Given the description of an element on the screen output the (x, y) to click on. 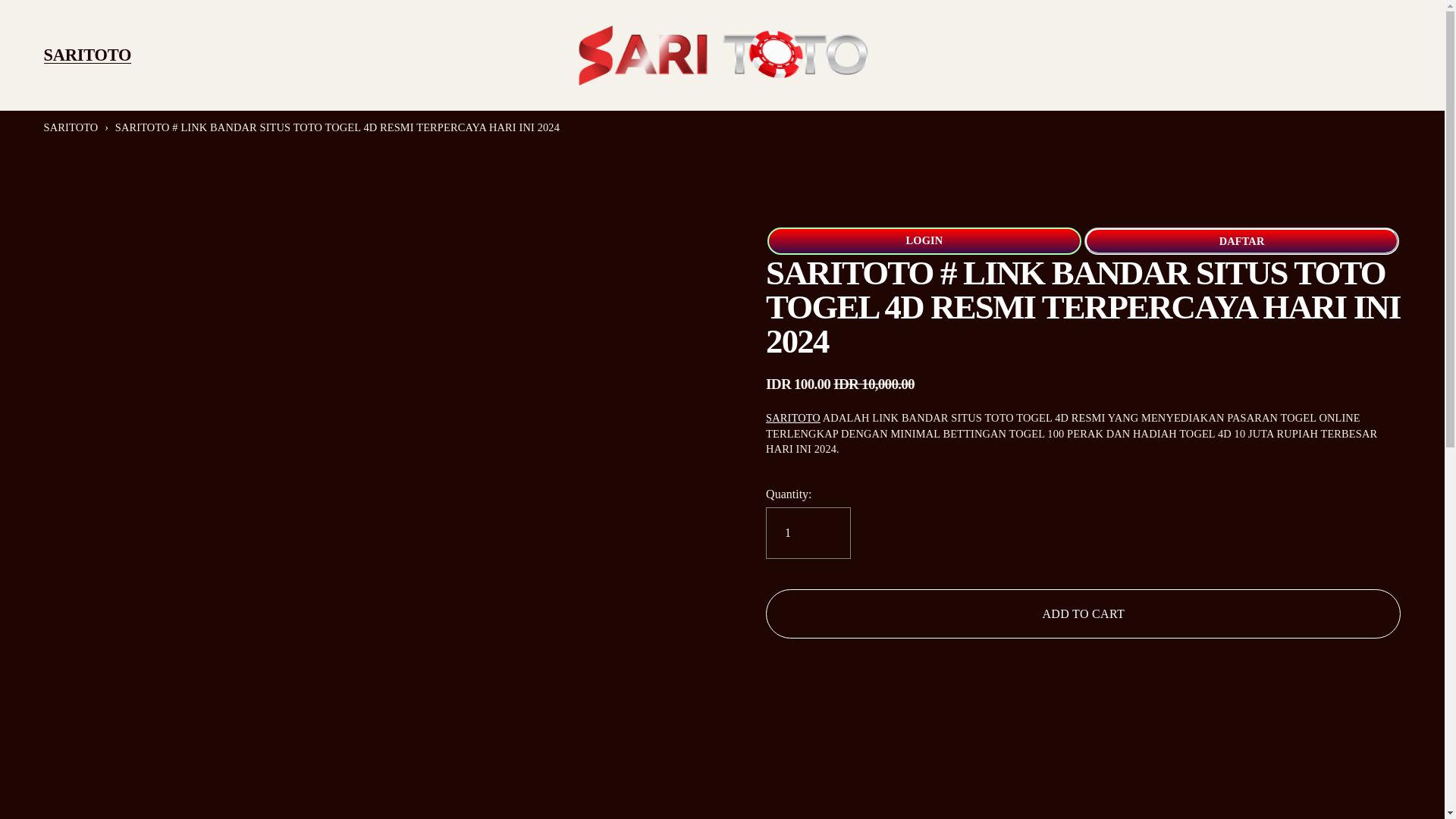
SARITOTO (71, 127)
SARITOTO (793, 417)
LOGIN (924, 240)
1 (807, 532)
DAFTAR (1241, 240)
SARITOTO (87, 55)
